Given the description of an element on the screen output the (x, y) to click on. 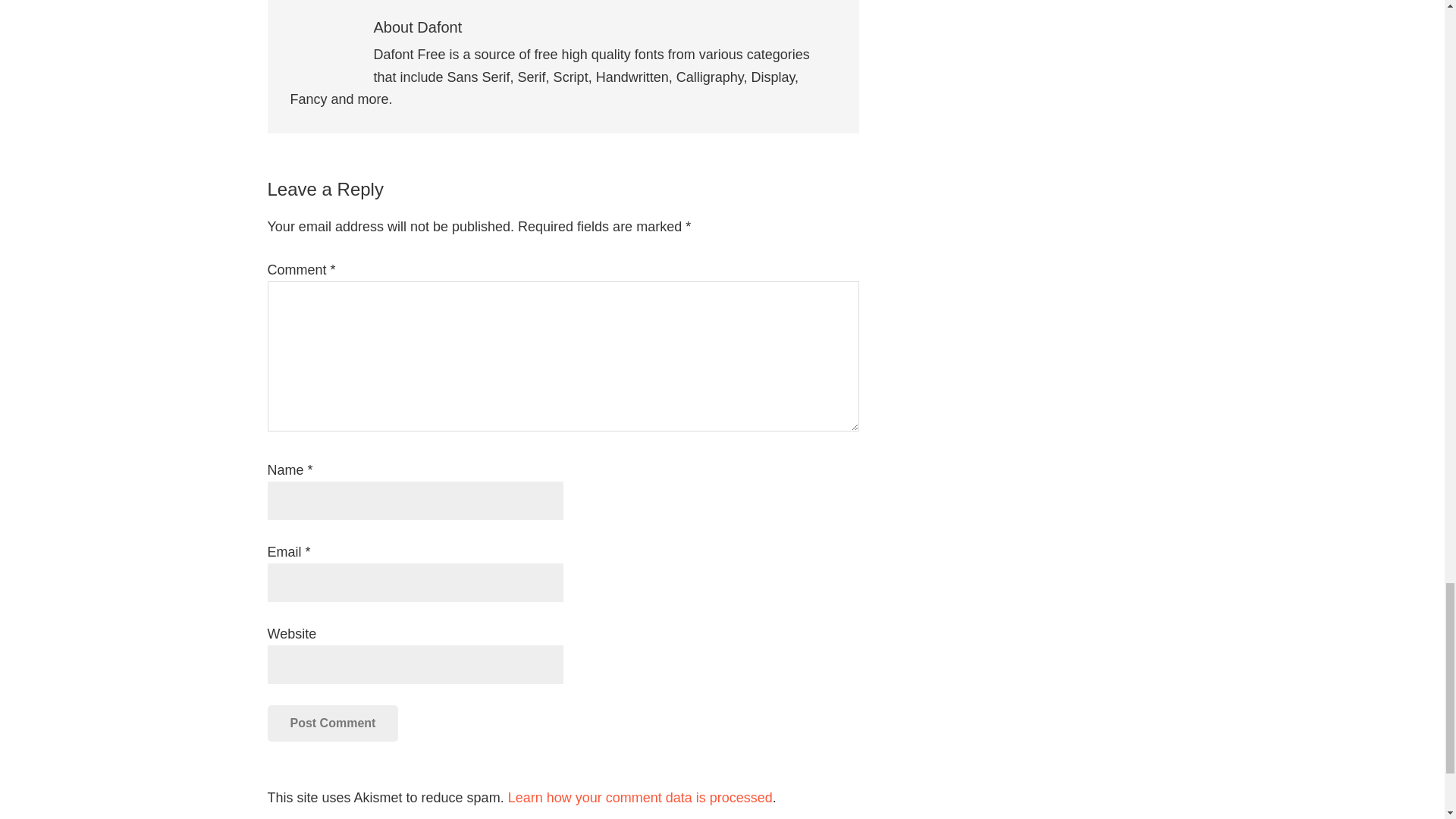
Learn how your comment data is processed (640, 797)
Post Comment (331, 723)
Post Comment (331, 723)
